Given the description of an element on the screen output the (x, y) to click on. 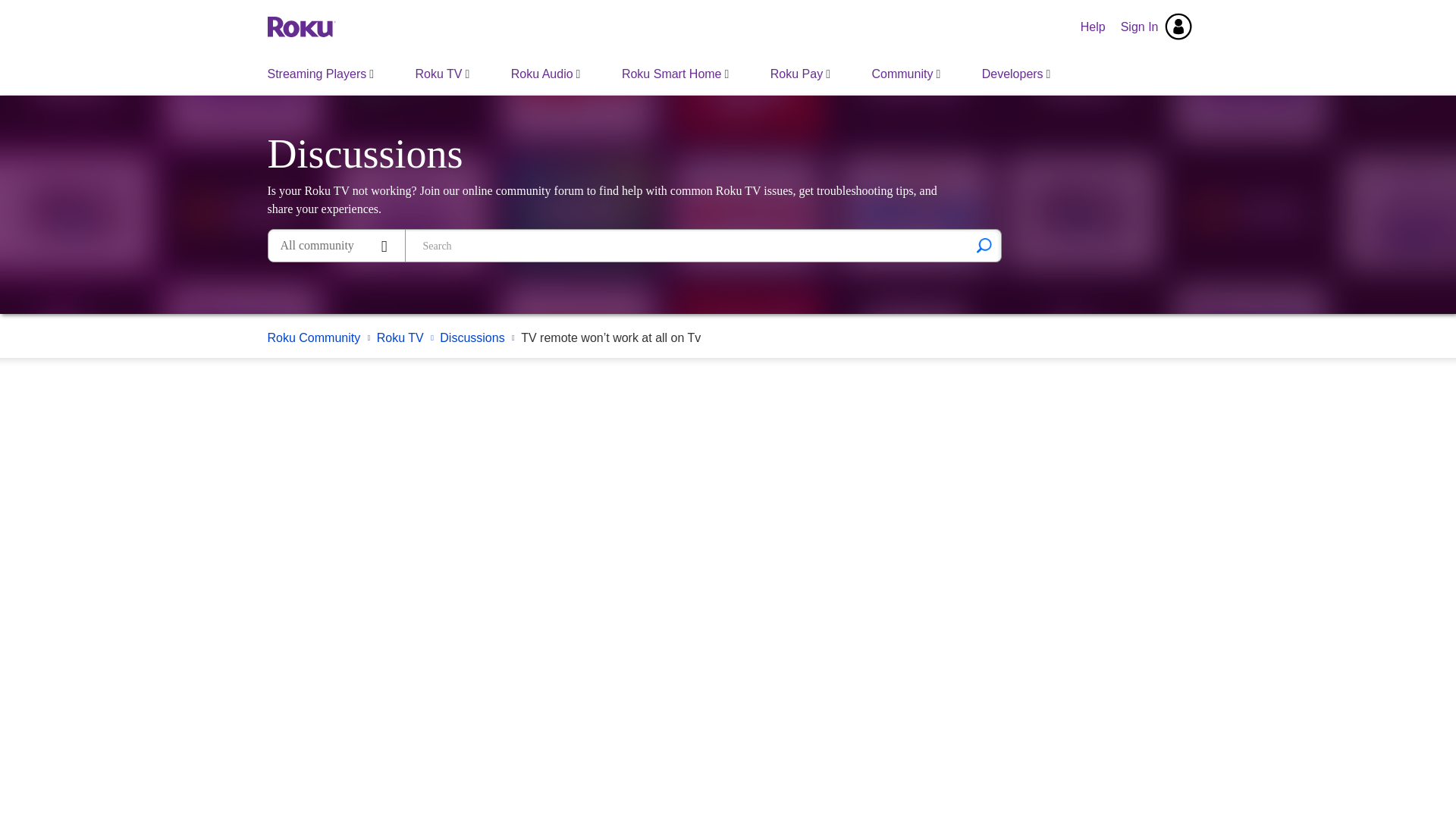
Roku Audio (545, 73)
Search (983, 245)
Community (905, 73)
Help (1093, 26)
Streaming Players (320, 73)
Roku Community (300, 26)
Search Granularity (335, 245)
Roku TV (442, 73)
Roku Pay (799, 73)
Search (983, 245)
